Given the description of an element on the screen output the (x, y) to click on. 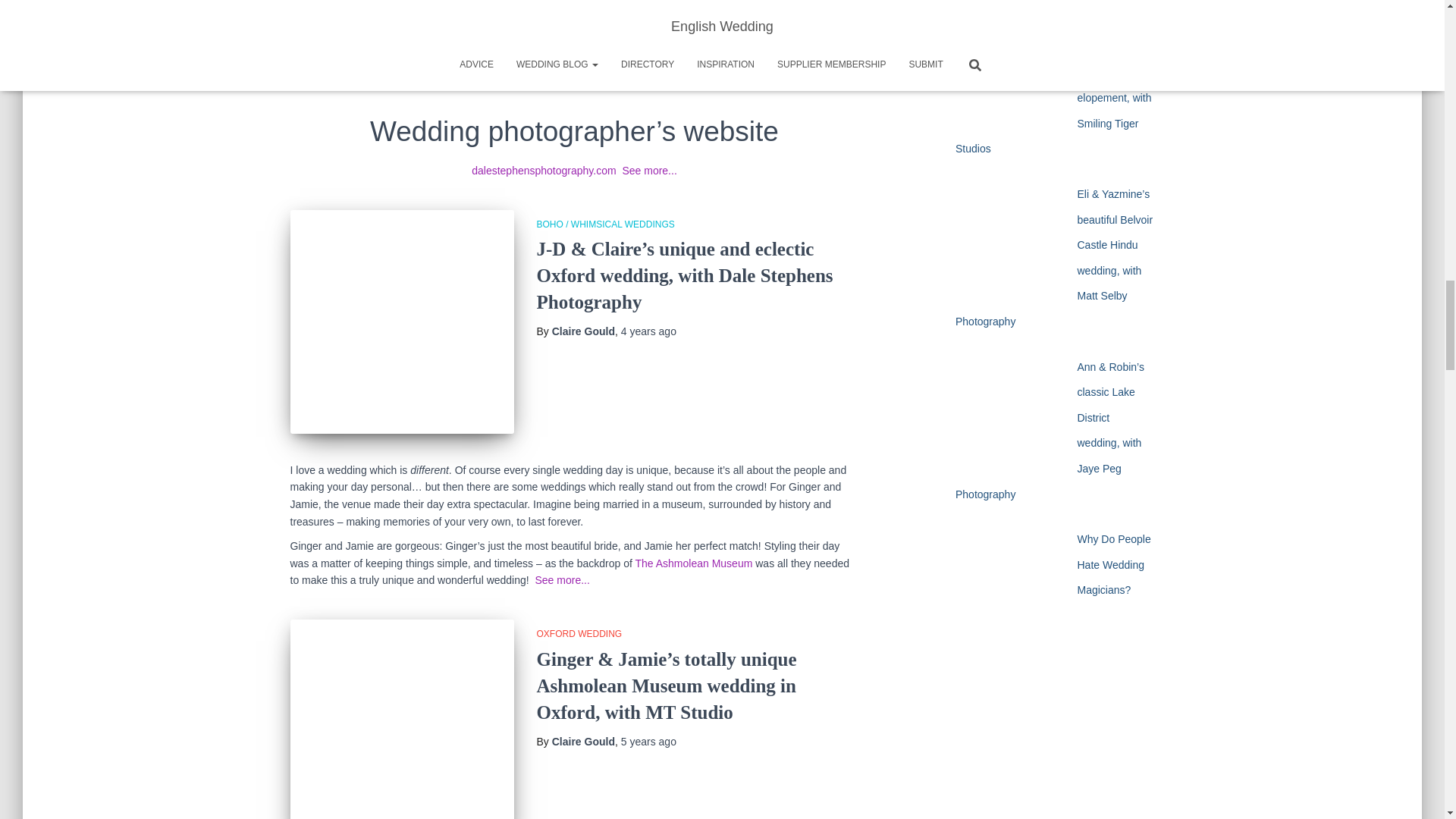
4 years ago (649, 331)
See more... (649, 170)
Claire Gould (582, 331)
dalestephensphotography.com (543, 170)
See more... (561, 580)
The Ashmolean Museum (693, 563)
